Given the description of an element on the screen output the (x, y) to click on. 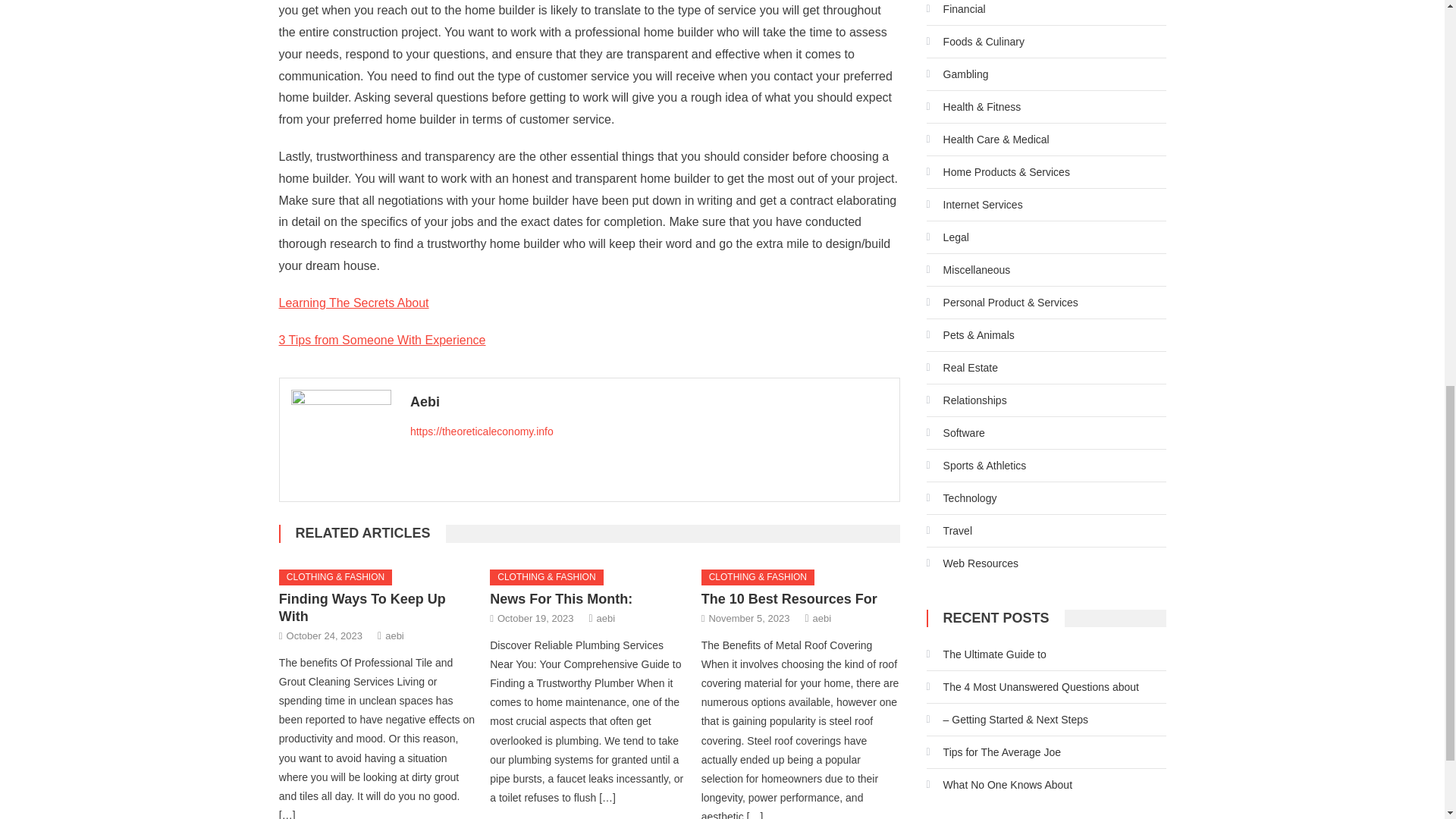
aebi (394, 635)
October 19, 2023 (535, 618)
Learning The Secrets About (354, 302)
News For This Month: (560, 598)
Finding Ways To Keep Up With (362, 607)
The 10 Best Resources For (789, 598)
November 5, 2023 (748, 618)
Aebi (649, 401)
October 24, 2023 (324, 635)
3 Tips from Someone With Experience (382, 339)
